Given the description of an element on the screen output the (x, y) to click on. 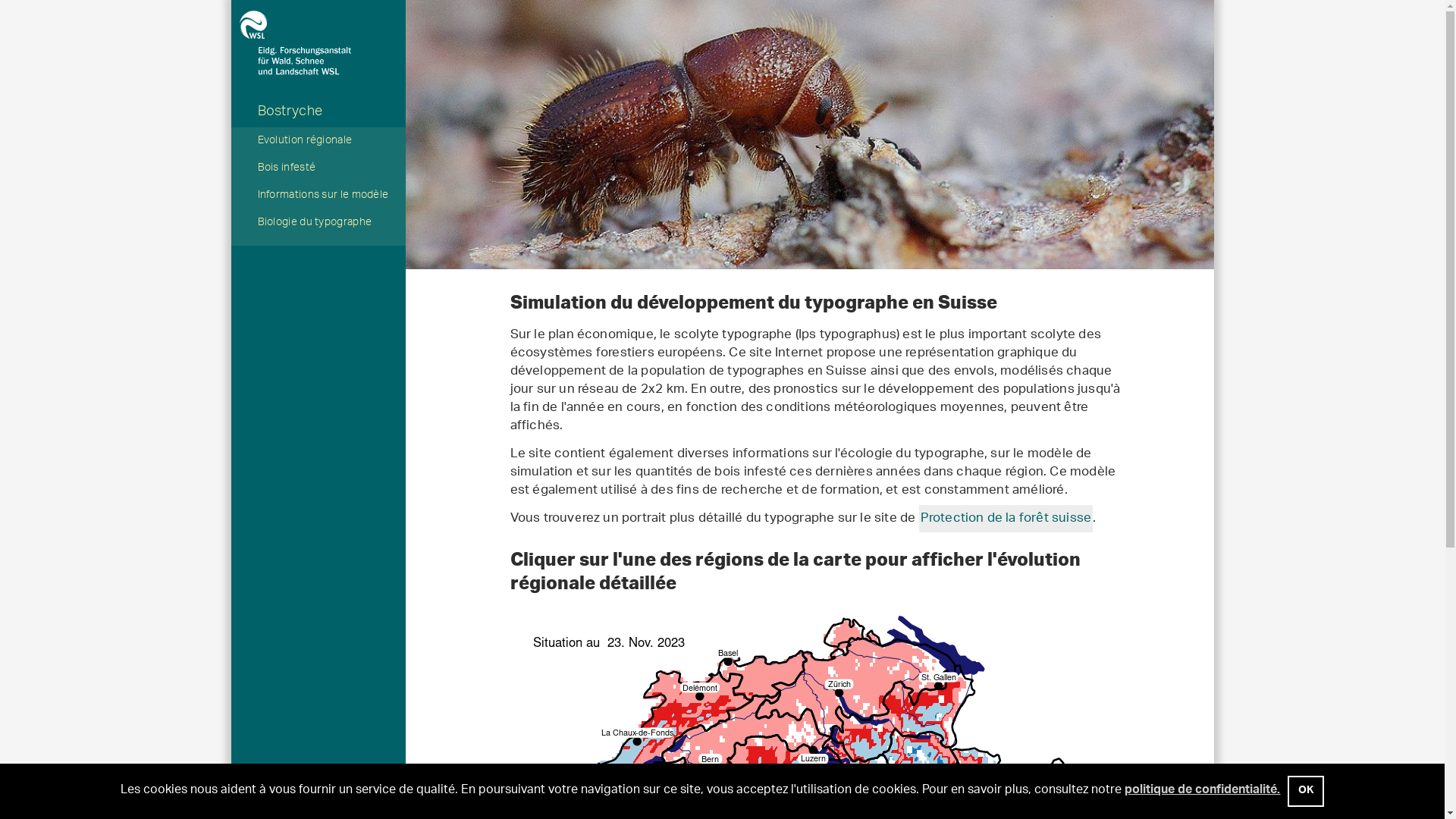
twitter Element type: text (582, 799)
Contact Element type: text (398, 798)
biedermann borkenkaefer Element type: hover (808, 134)
facebook Element type: text (611, 799)
OK Element type: text (1305, 790)
Bostryche Element type: text (317, 112)
Biologie du typographe Element type: text (317, 223)
[WSL Logo Element type: hover (318, 24)
youtube Element type: text (547, 799)
